Given the description of an element on the screen output the (x, y) to click on. 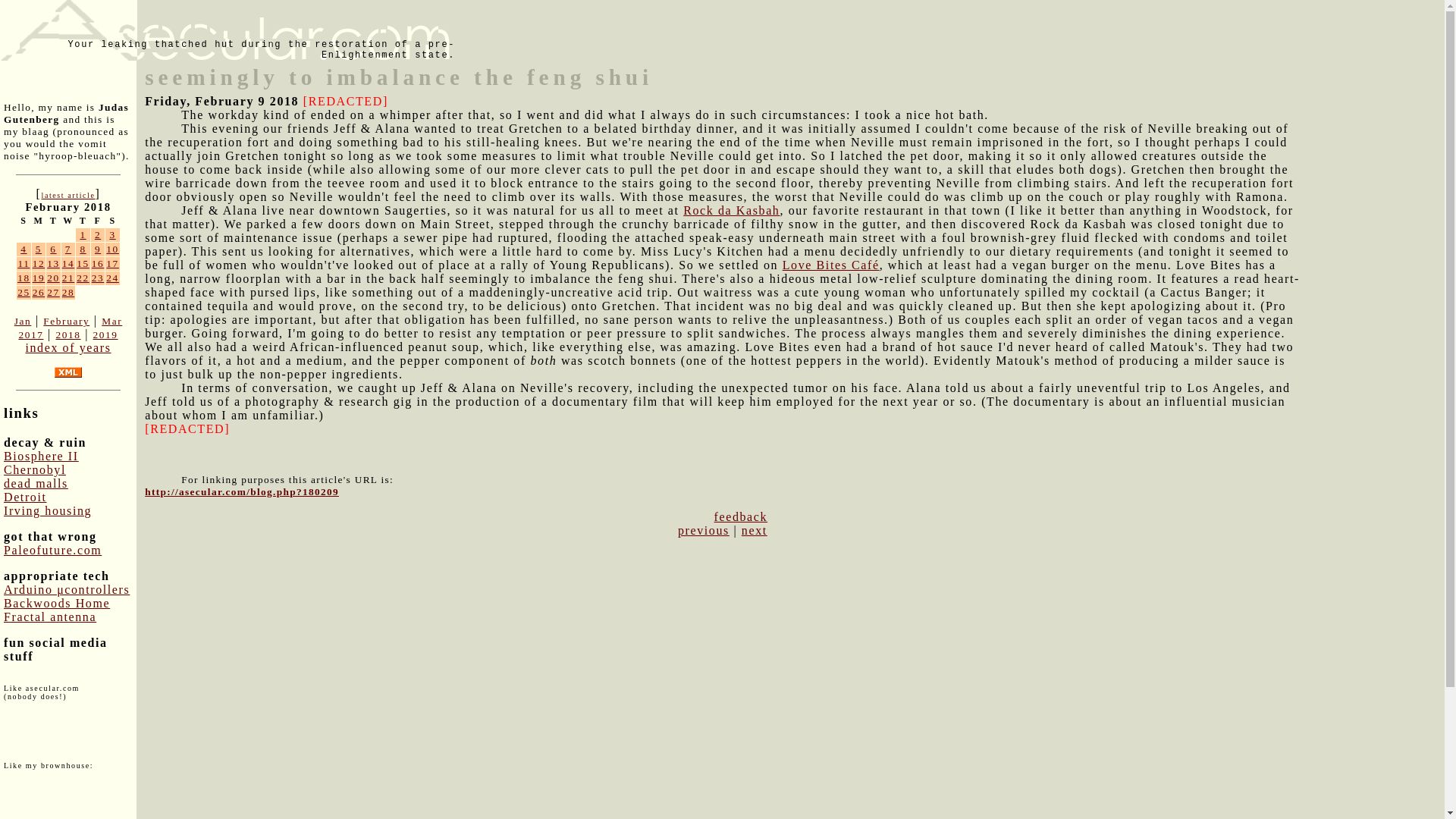
23 (97, 277)
Biosphere II (41, 455)
13 (52, 263)
27 (52, 292)
15 (82, 263)
28 (68, 292)
index of years (67, 347)
Chernobyl (34, 469)
24 (112, 277)
February (65, 320)
2018 (67, 334)
21 (68, 277)
18 (23, 277)
2017 (30, 334)
latest article (67, 194)
